Given the description of an element on the screen output the (x, y) to click on. 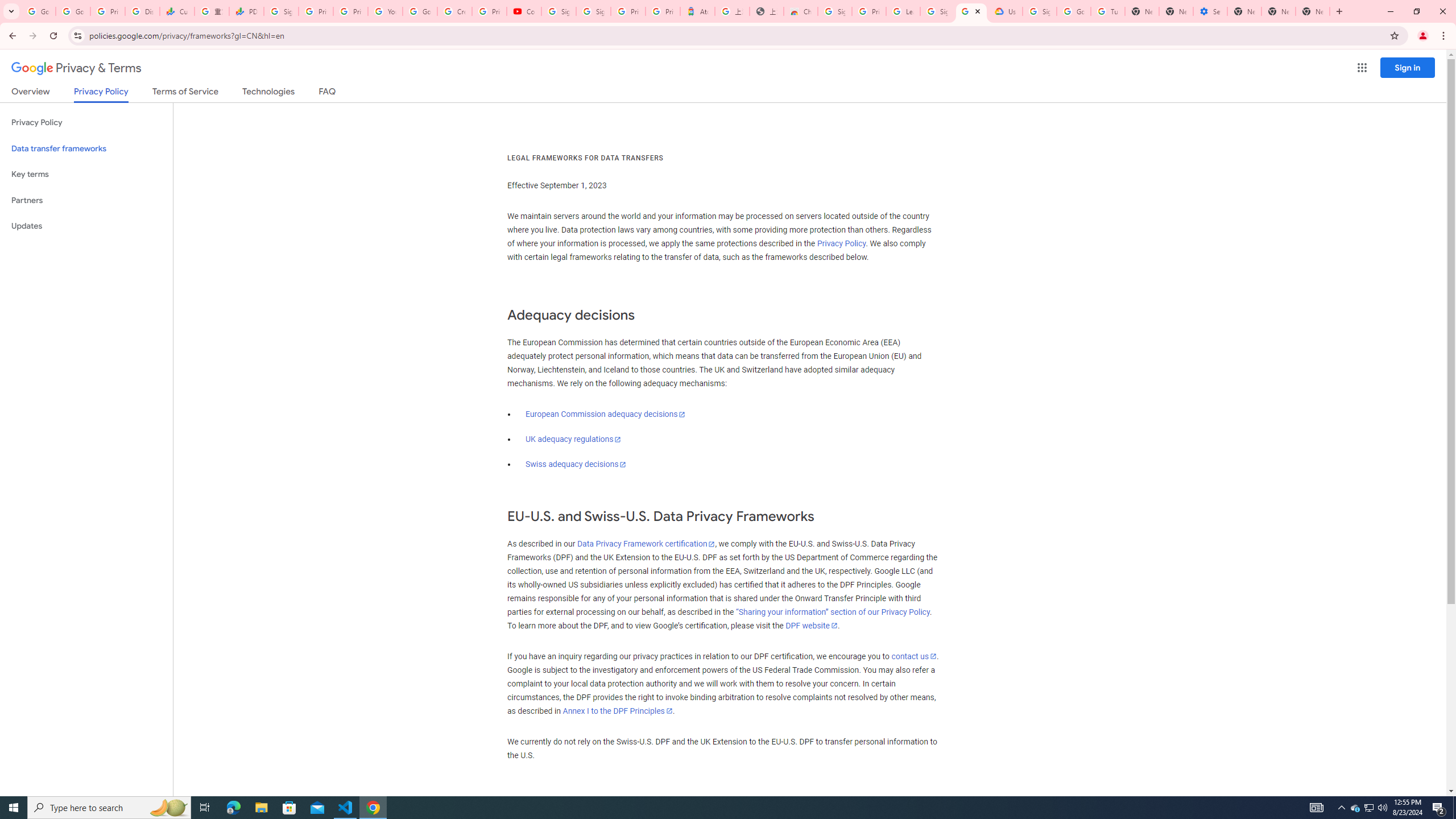
Swiss adequacy decisions (575, 464)
Currencies - Google Finance (176, 11)
YouTube (384, 11)
